Given the description of an element on the screen output the (x, y) to click on. 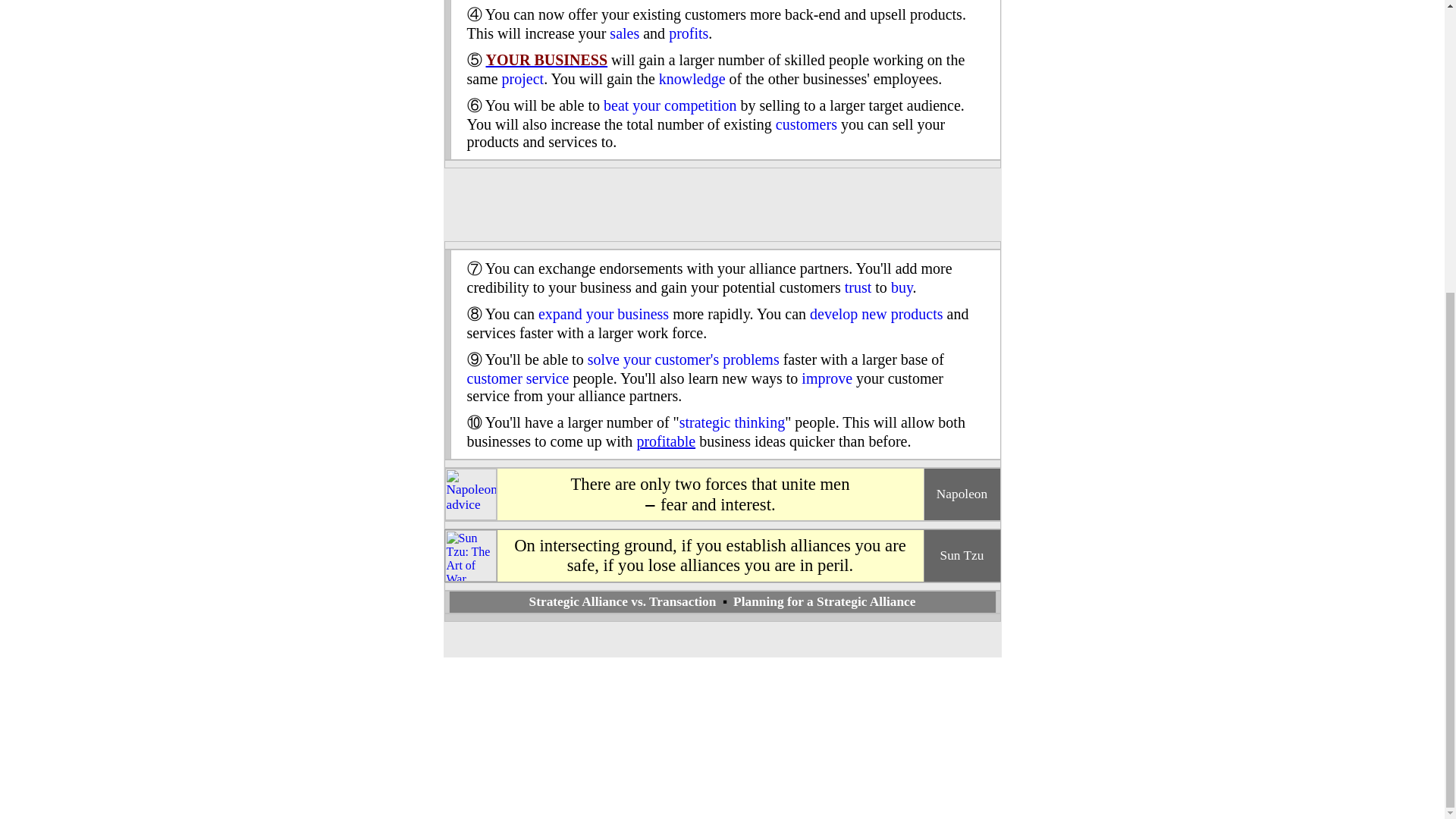
develop new products (876, 313)
customer service (518, 378)
trust (858, 287)
knowledge (692, 78)
beat your competition (670, 105)
strategic thinking (731, 422)
profits (687, 33)
customers (806, 124)
Napoleon (470, 515)
improve (826, 378)
